Given the description of an element on the screen output the (x, y) to click on. 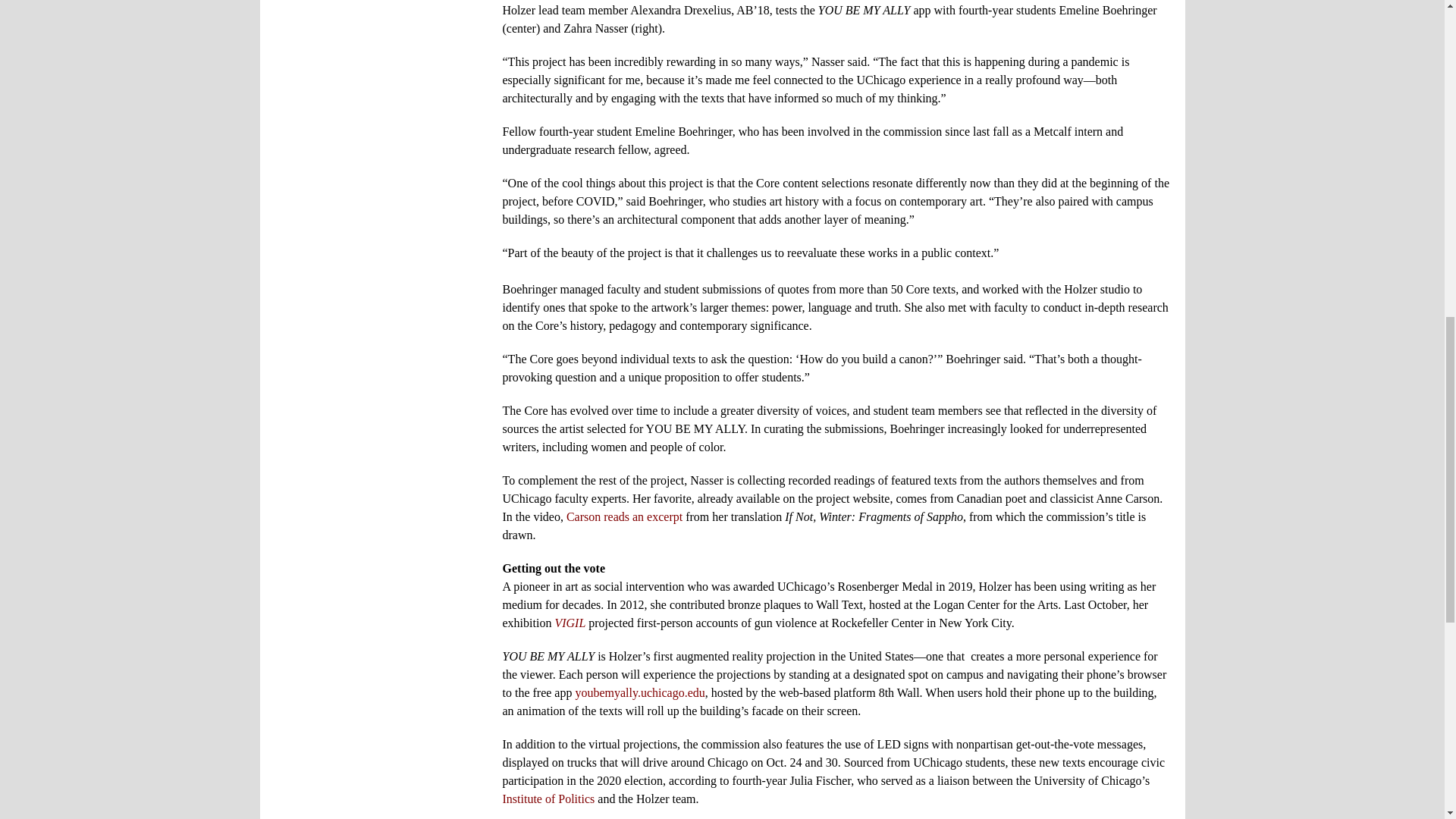
VIGIL (569, 622)
youbemyally.uchicago.edu (639, 692)
Carson reads an excerpt (624, 516)
Institute of Politics (548, 798)
